Given the description of an element on the screen output the (x, y) to click on. 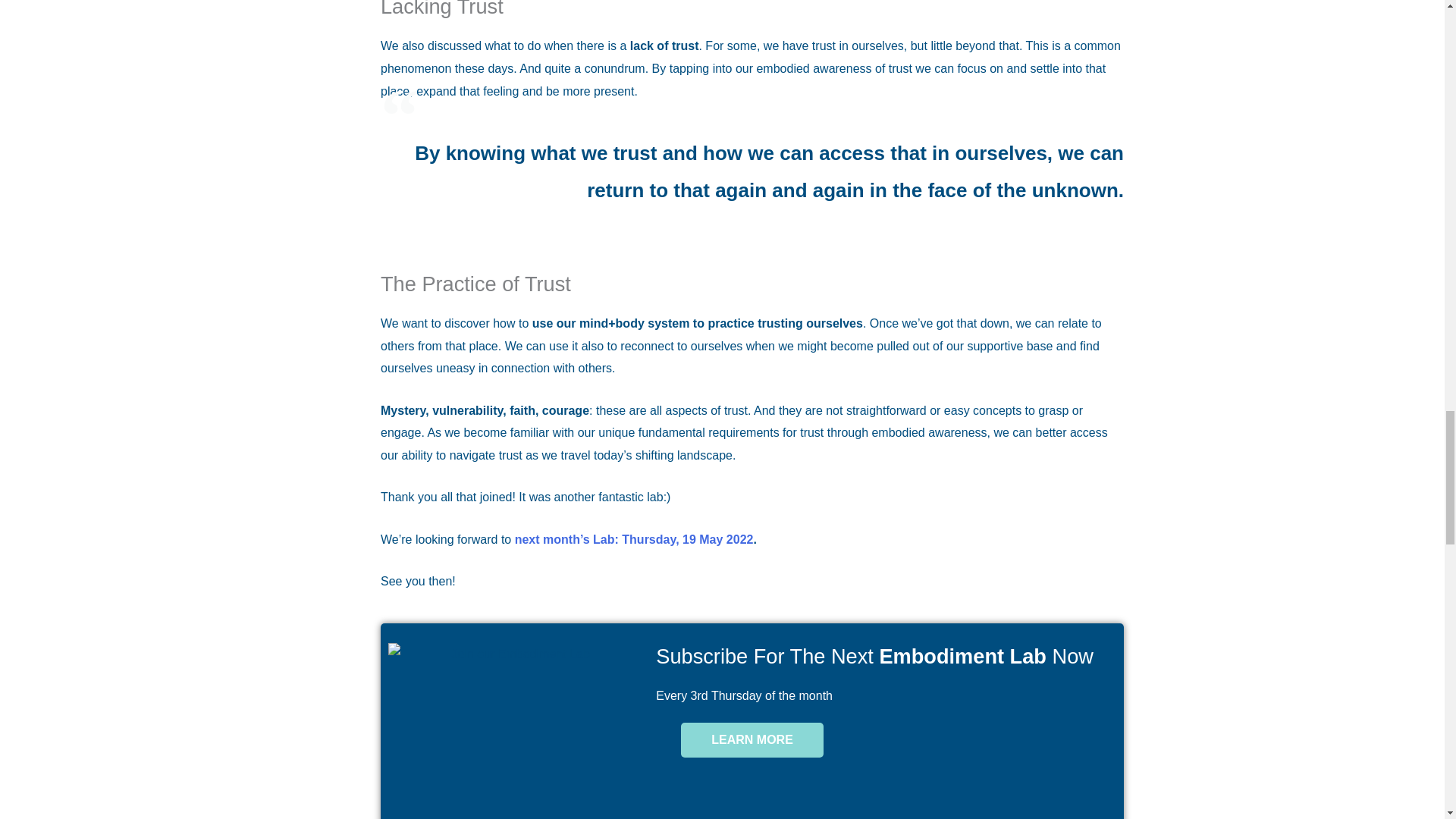
LEARN MORE (752, 739)
